Given the description of an element on the screen output the (x, y) to click on. 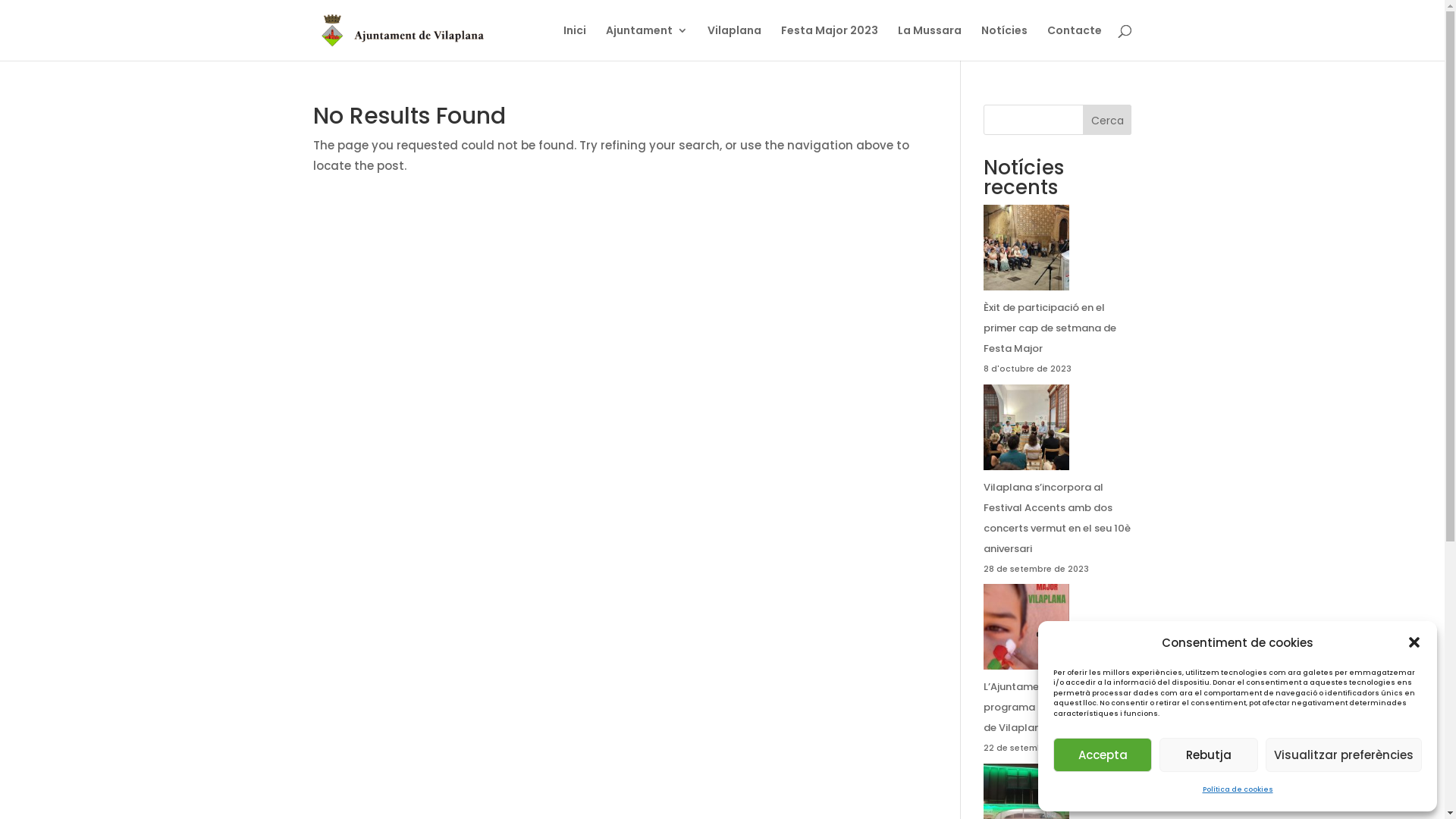
Festa Major 2023 Element type: text (829, 42)
Vilaplana Element type: text (733, 42)
La Mussara Element type: text (929, 42)
Rebutja Element type: text (1208, 754)
Accepta Element type: text (1102, 754)
Contacte Element type: text (1073, 42)
Inici Element type: text (573, 42)
Ajuntament Element type: text (646, 42)
Cerca Element type: text (1107, 119)
